Given the description of an element on the screen output the (x, y) to click on. 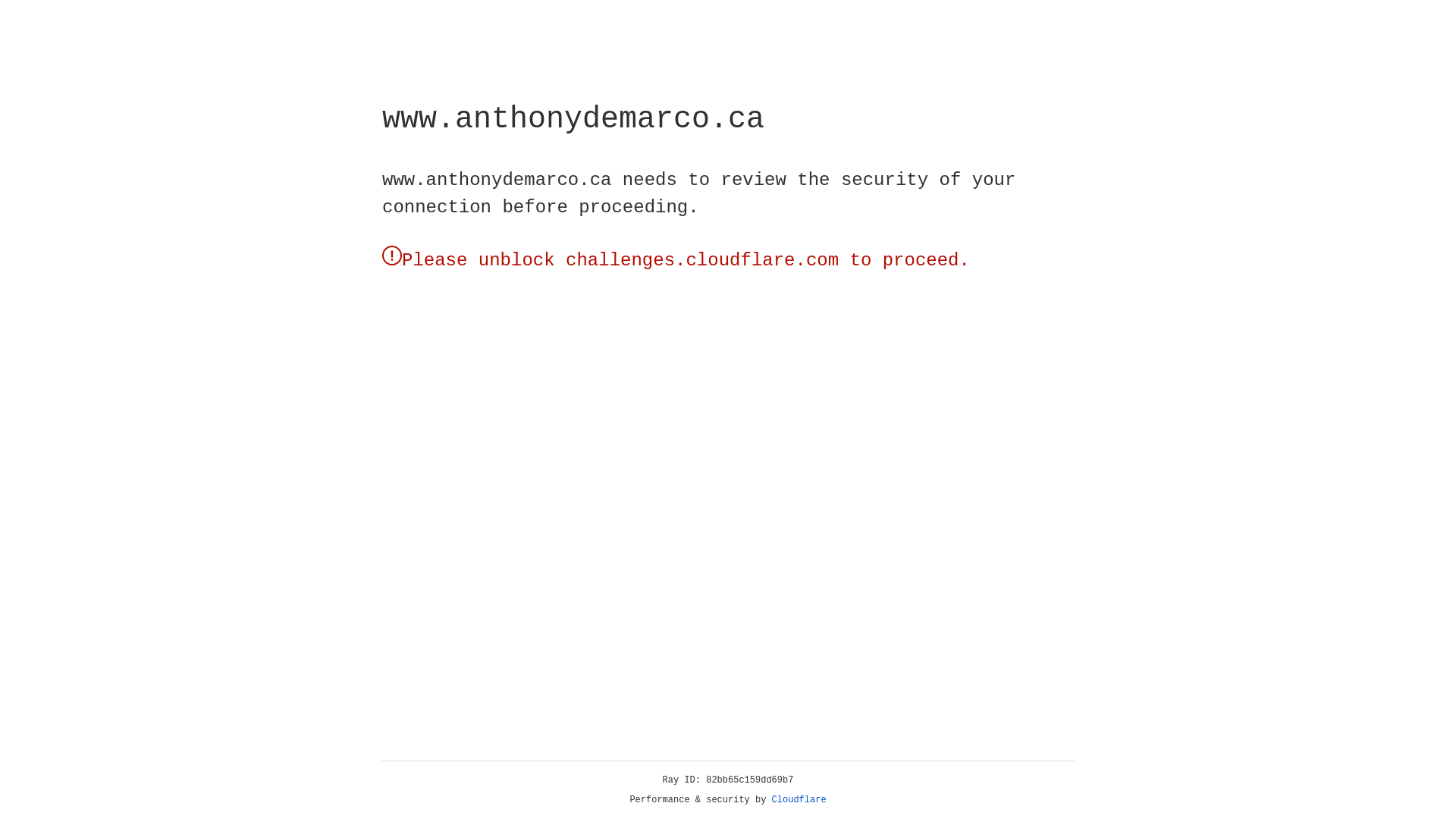
Cloudflare Element type: text (798, 799)
